Given the description of an element on the screen output the (x, y) to click on. 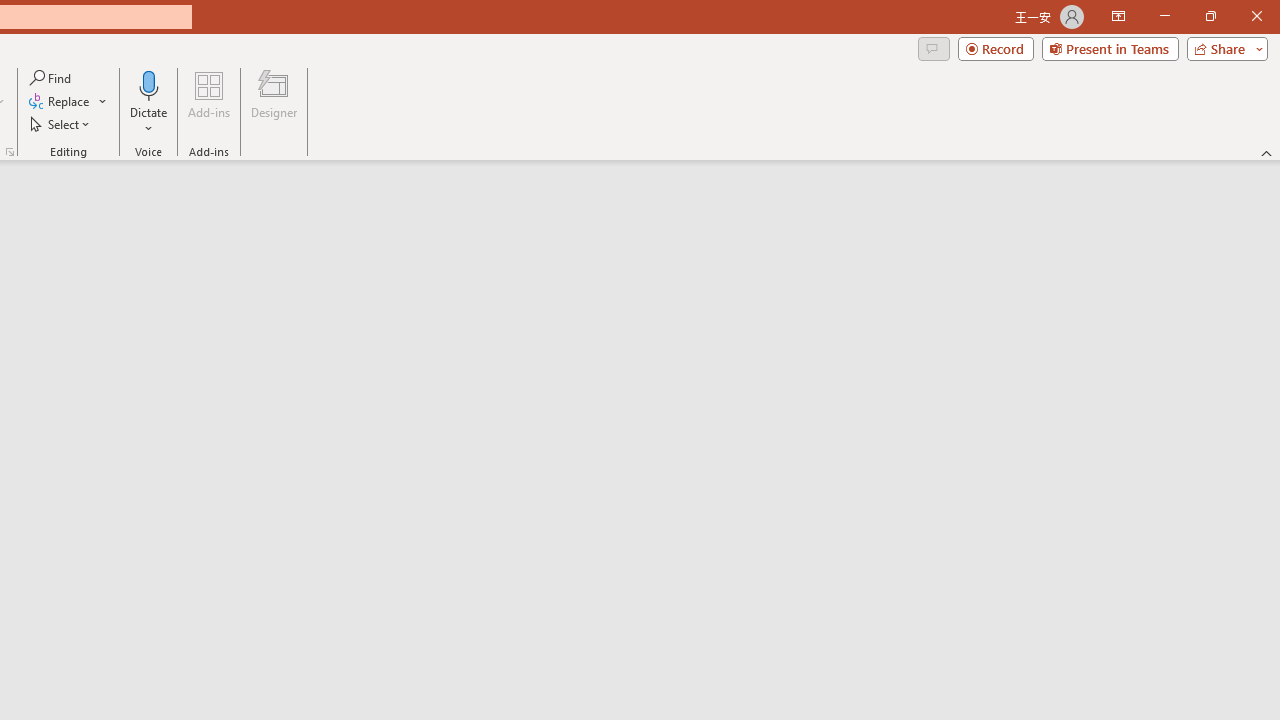
Designer (274, 102)
Find... (51, 78)
Format Object... (9, 151)
More Options (149, 121)
Restore Down (1210, 16)
